Given the description of an element on the screen output the (x, y) to click on. 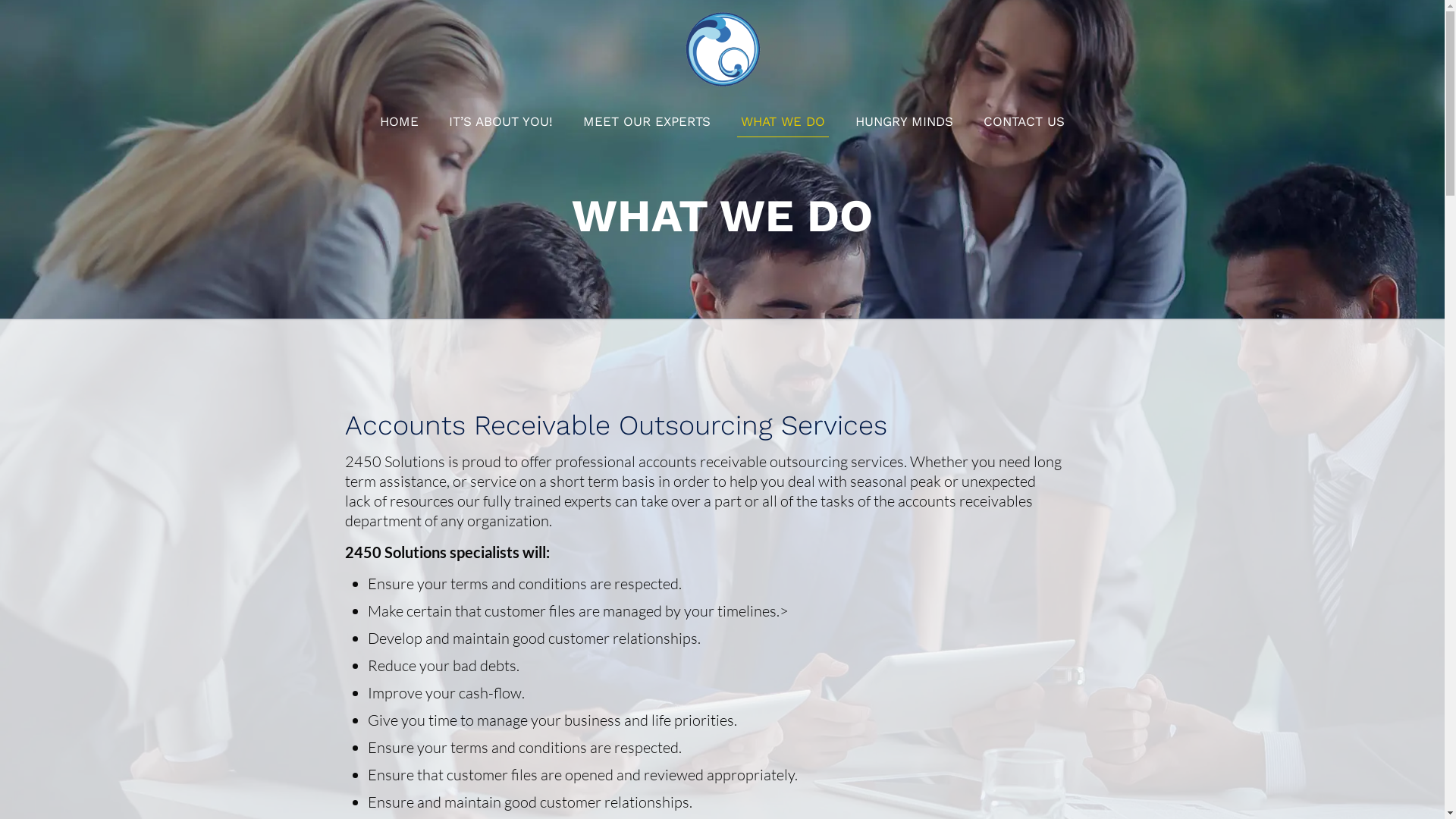
CONTACT US Element type: text (1023, 121)
HOME Element type: text (398, 121)
MEET OUR EXPERTS Element type: text (646, 121)
WHAT WE DO Element type: text (782, 121)
2450 Solutions Element type: hover (721, 49)
HUNGRY MINDS Element type: text (904, 121)
